Given the description of an element on the screen output the (x, y) to click on. 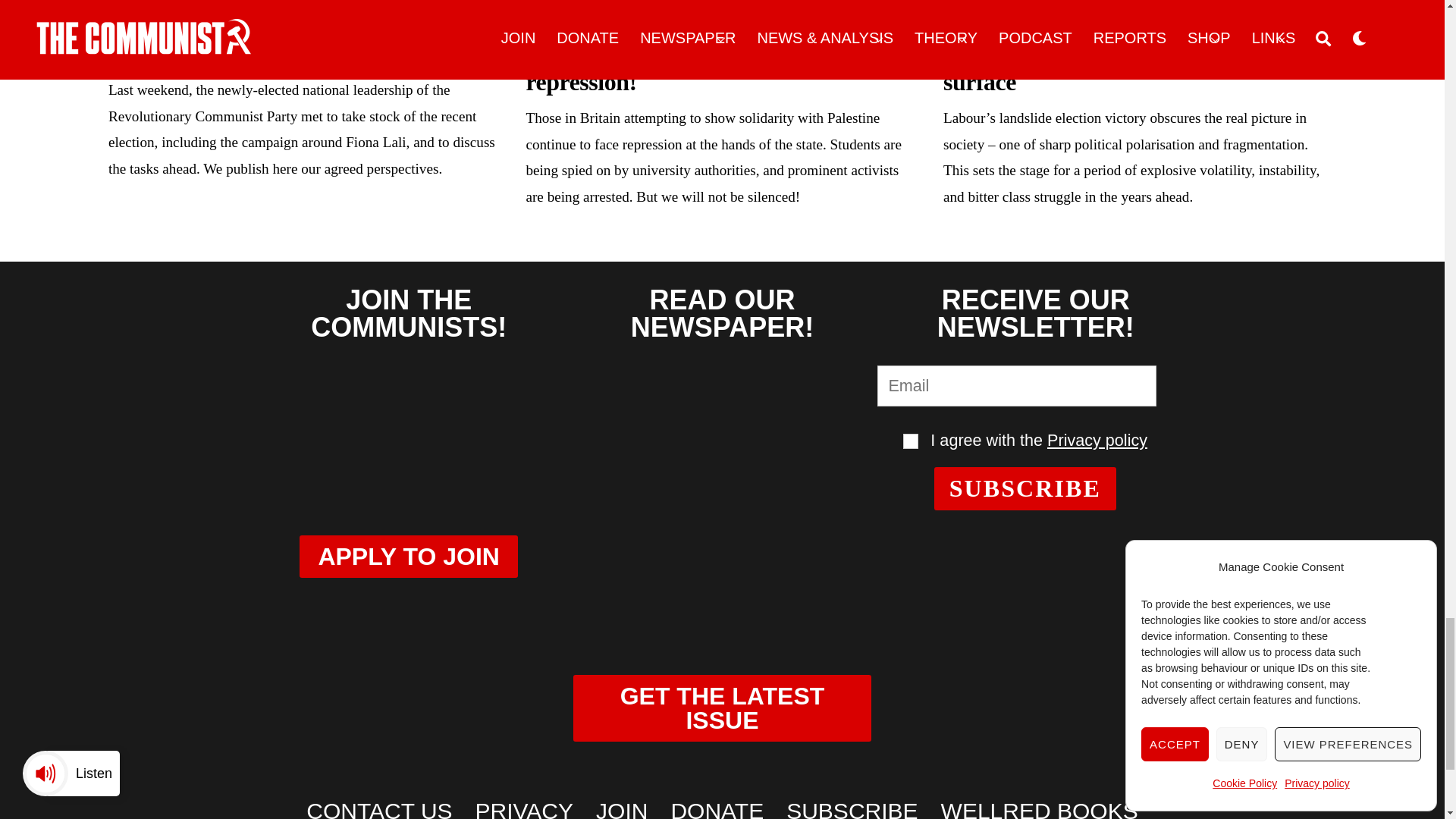
on (910, 441)
Privacy policy (1096, 439)
Terms and conditions (910, 441)
